Given the description of an element on the screen output the (x, y) to click on. 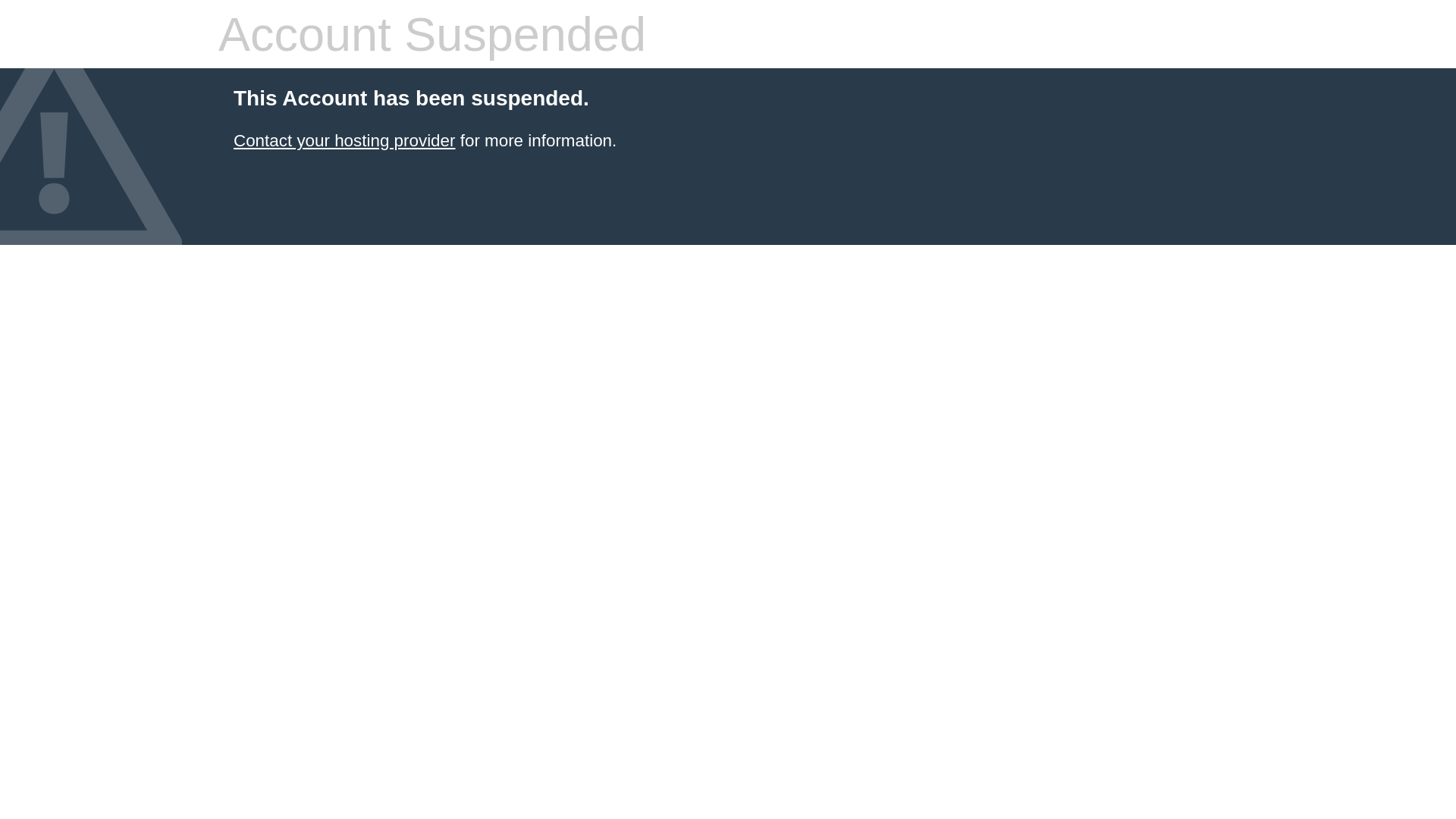
Contact your hosting provider Element type: text (344, 140)
